Given the description of an element on the screen output the (x, y) to click on. 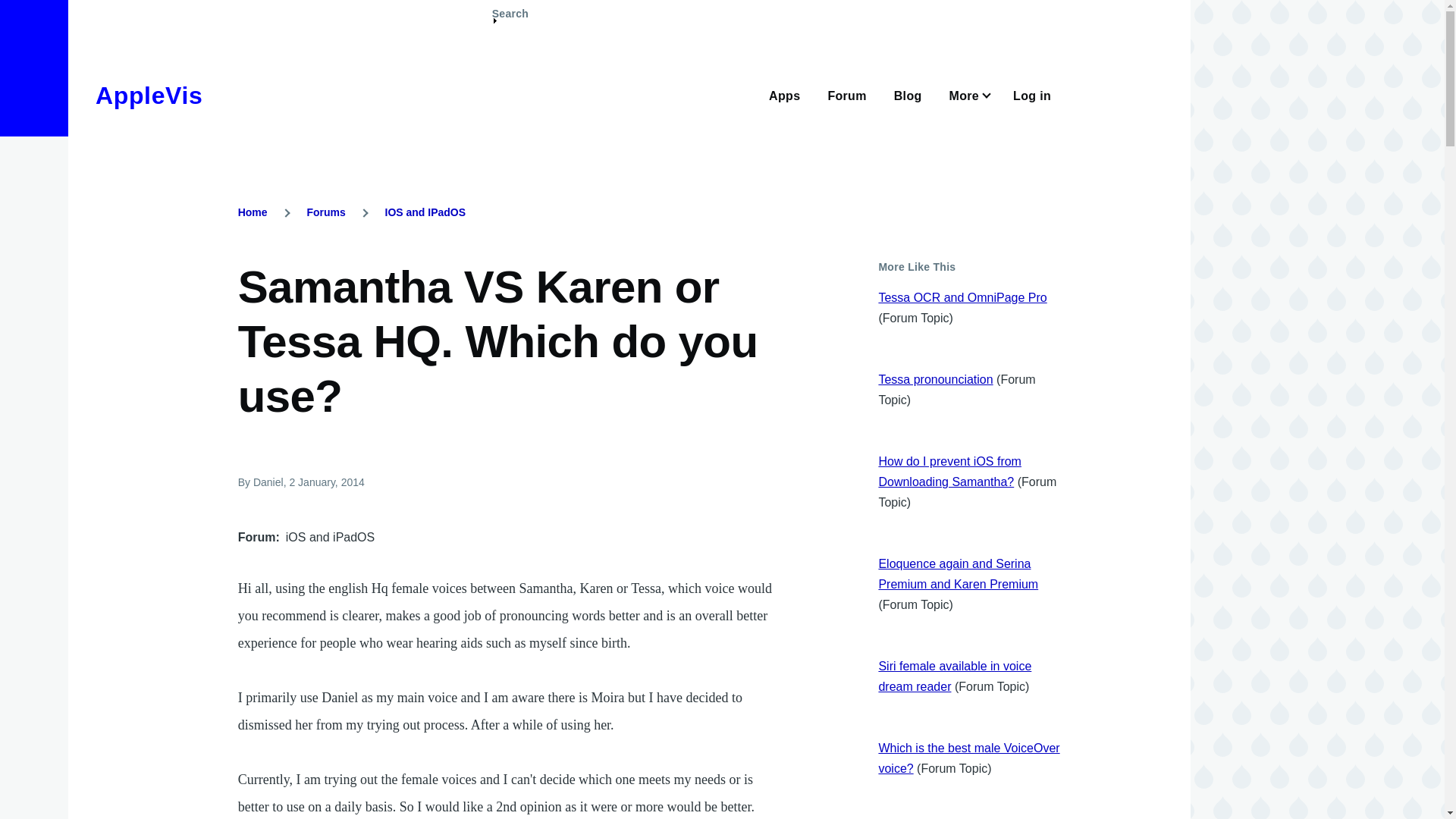
IOS and IPadOS (425, 212)
Home (149, 94)
Blog (907, 94)
Tessa pronounciation (934, 379)
Log in (1032, 94)
Tessa OCR and OmniPage Pro (961, 297)
Search (510, 20)
Eloquence again and Serina Premium and Karen Premium (957, 573)
More community resources (968, 94)
Forum (846, 94)
How do I prevent iOS from Downloading Samantha? (949, 471)
Forums (325, 212)
Apps (783, 94)
More (968, 94)
Home (252, 212)
